Given the description of an element on the screen output the (x, y) to click on. 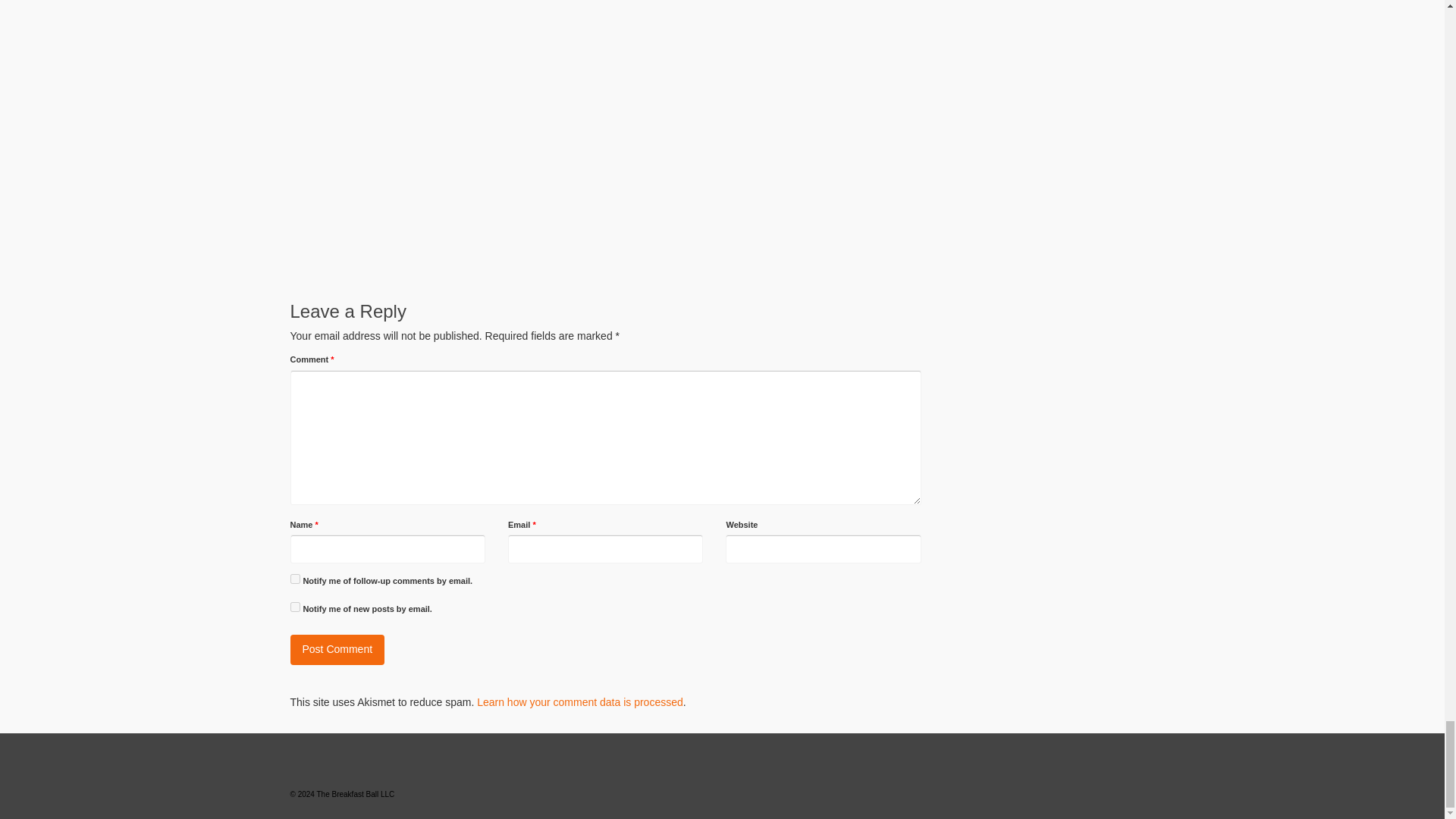
Post Comment (336, 649)
subscribe (294, 606)
subscribe (294, 578)
